Given the description of an element on the screen output the (x, y) to click on. 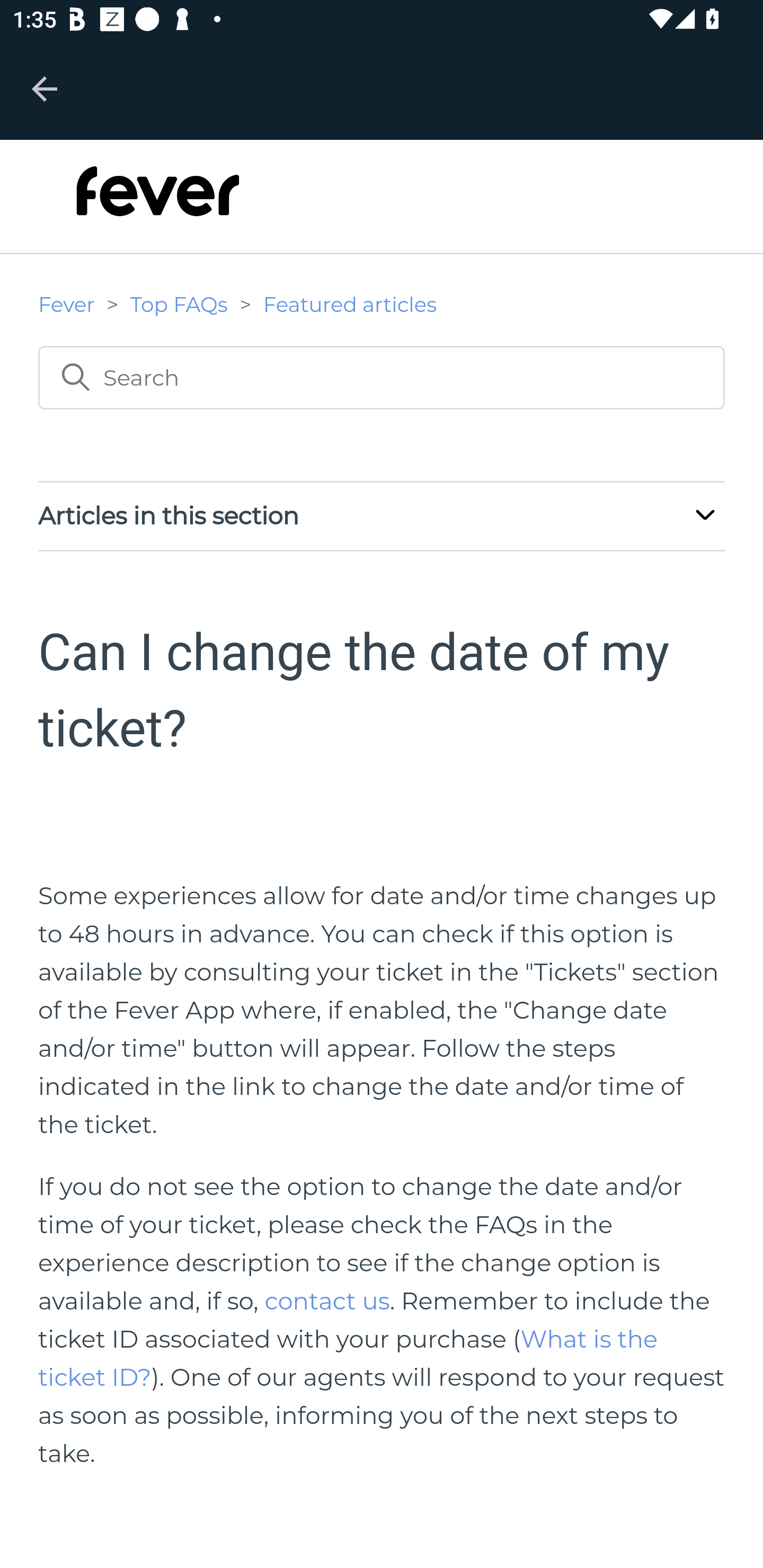
Navigate up (44, 88)
Home (158, 201)
Fever (66, 304)
Top FAQs (178, 304)
Featured articles (349, 304)
Articles in this section (381, 515)
Articles in this section (704, 518)
contact us (326, 1300)
What is the ticket ID? (347, 1357)
